Given the description of an element on the screen output the (x, y) to click on. 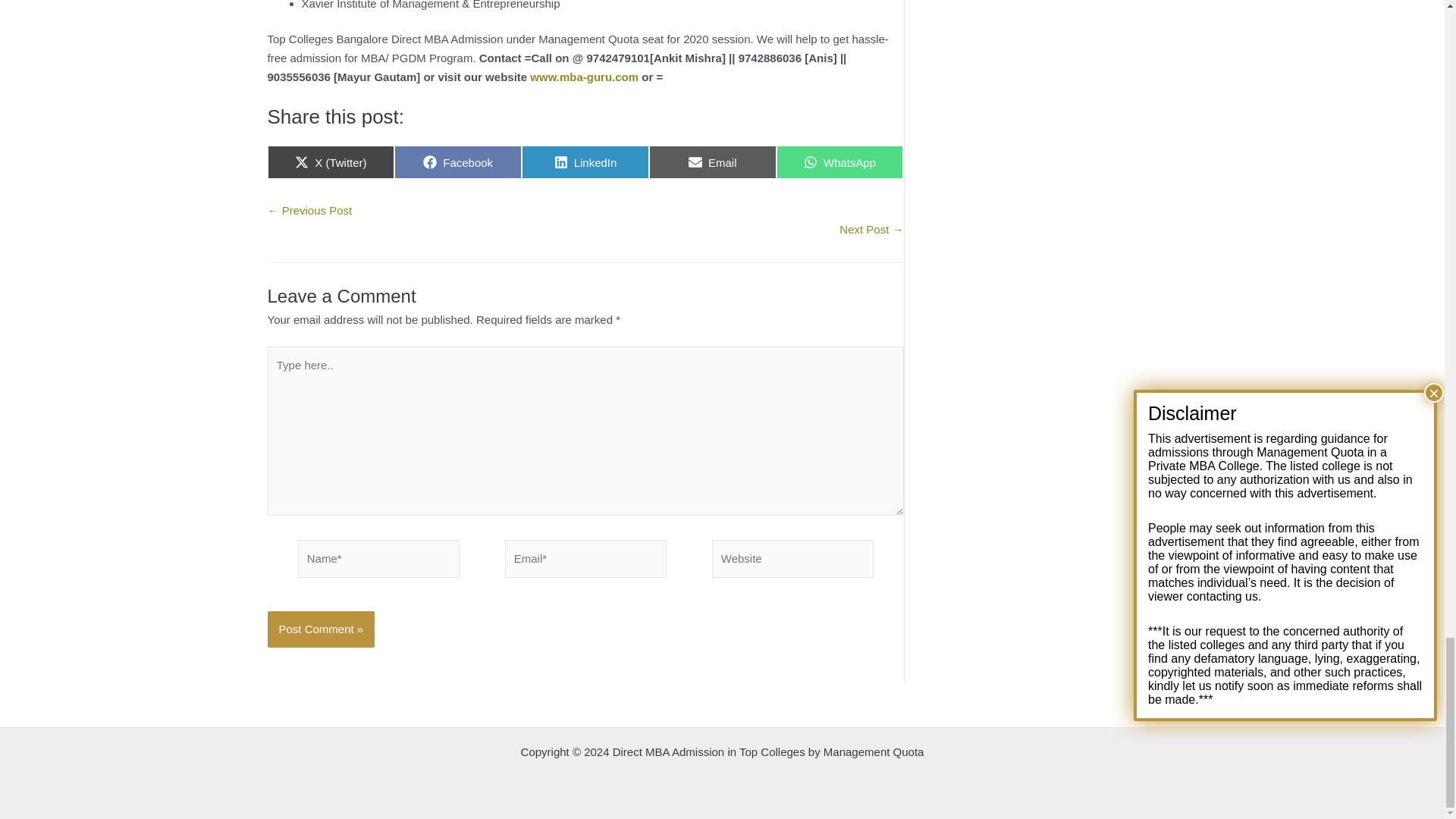
IMT Ghaziabad Direct Admission MBA (309, 210)
How to Prepare for Direct MBA Admission in TISS Mumbai (871, 228)
